Given the description of an element on the screen output the (x, y) to click on. 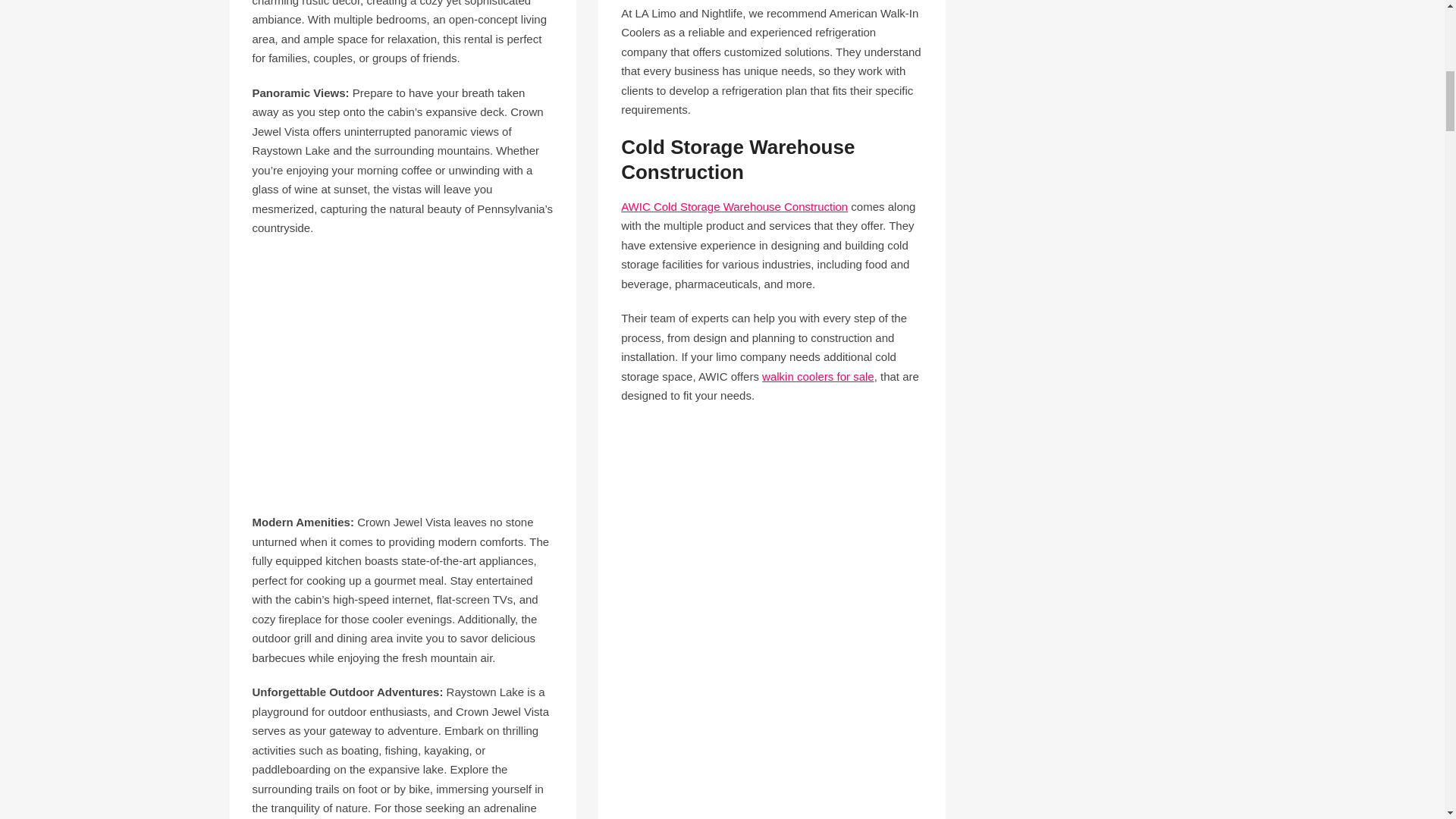
YouTube video player (402, 372)
walkin coolers for sale (818, 376)
AWIC Cold Storage Warehouse Construction (734, 205)
